Given the description of an element on the screen output the (x, y) to click on. 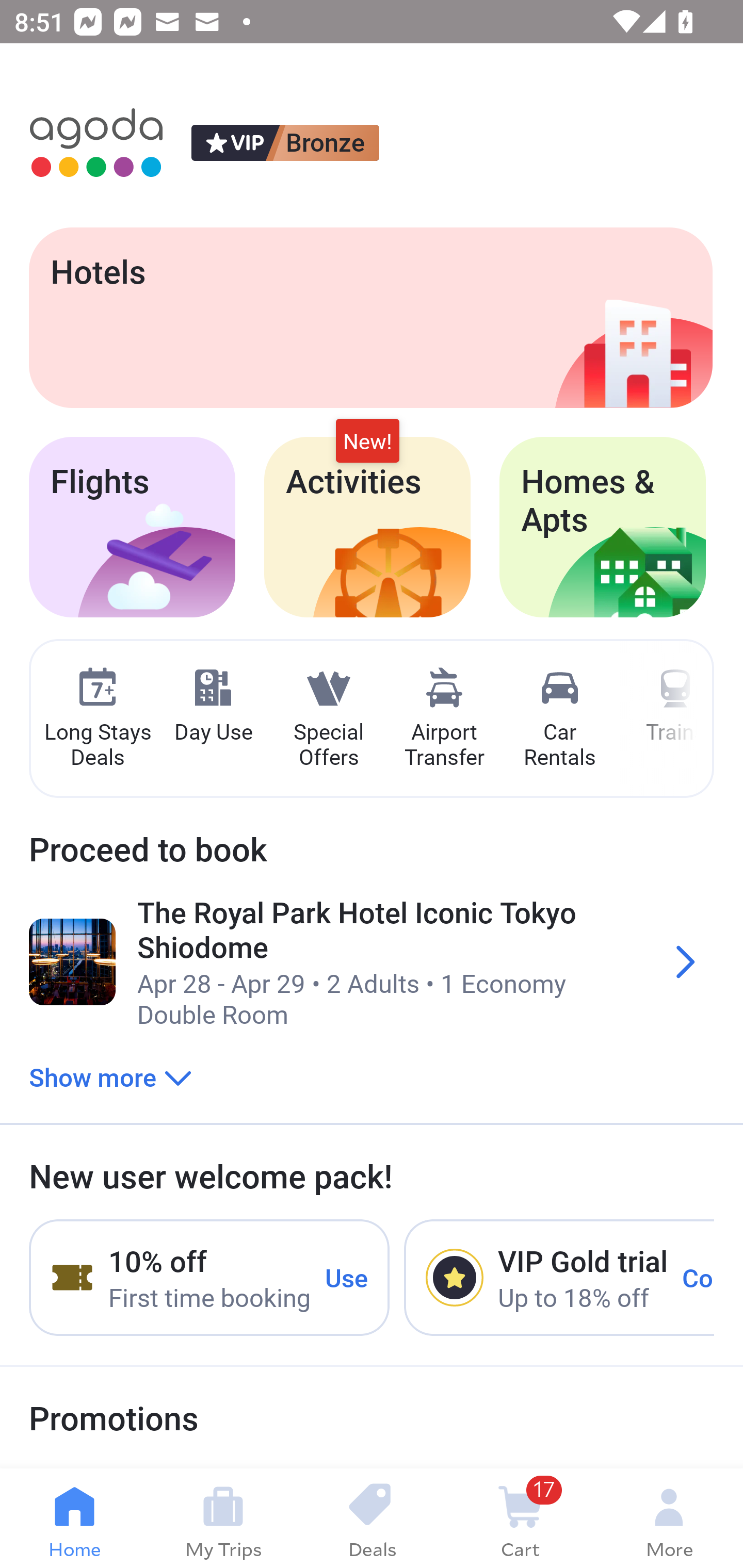
Hotels (370, 317)
New! (367, 441)
Flights (131, 527)
Activities (367, 527)
Homes & Apts (602, 527)
Day Use (213, 706)
Long Stays Deals (97, 718)
Special Offers (328, 718)
Airport Transfer (444, 718)
Car Rentals (559, 718)
Show more (110, 1076)
Use (346, 1277)
Home (74, 1518)
My Trips (222, 1518)
Deals (371, 1518)
17 Cart (519, 1518)
More (668, 1518)
